Given the description of an element on the screen output the (x, y) to click on. 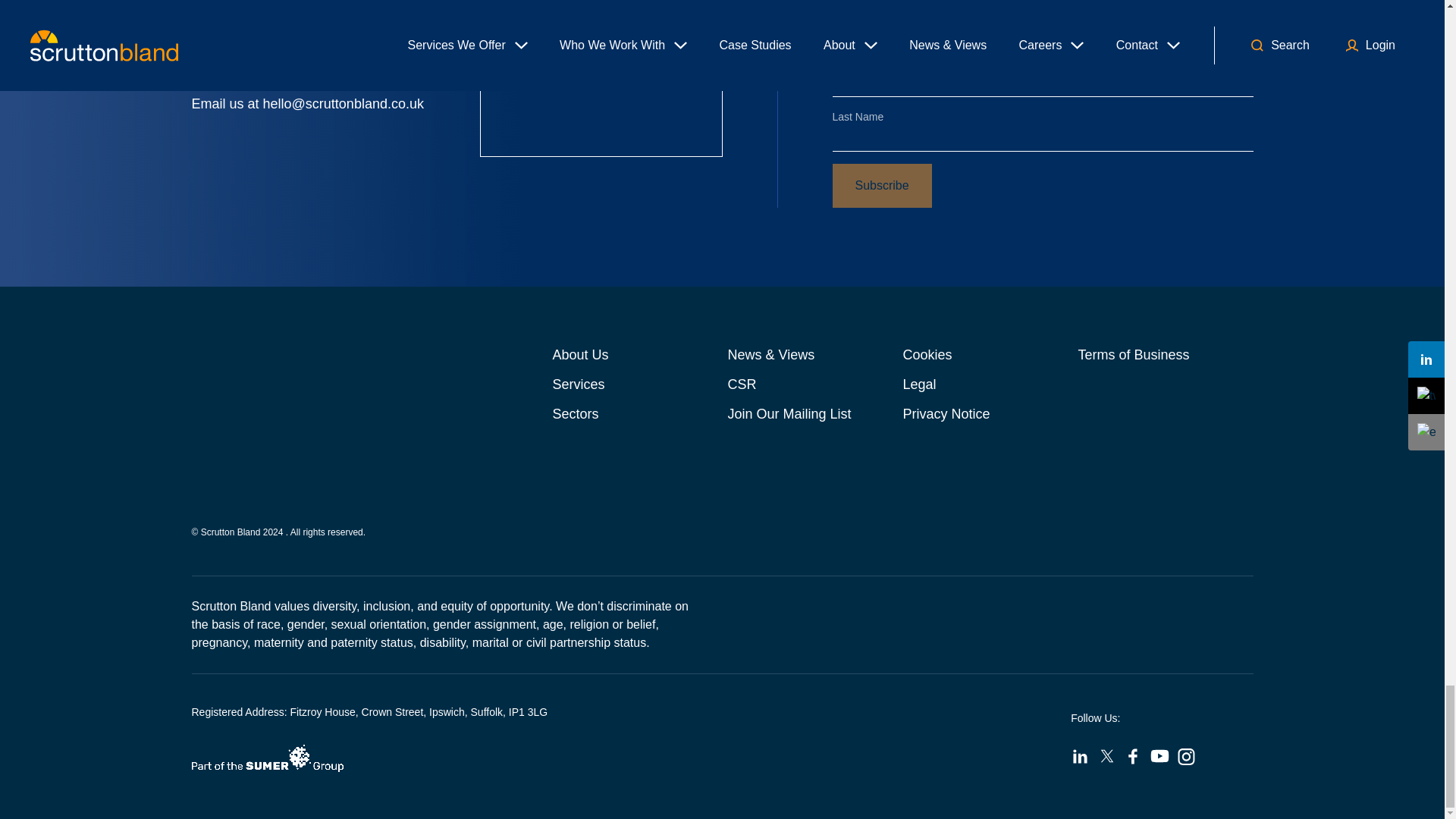
Subscribe (881, 185)
